Given the description of an element on the screen output the (x, y) to click on. 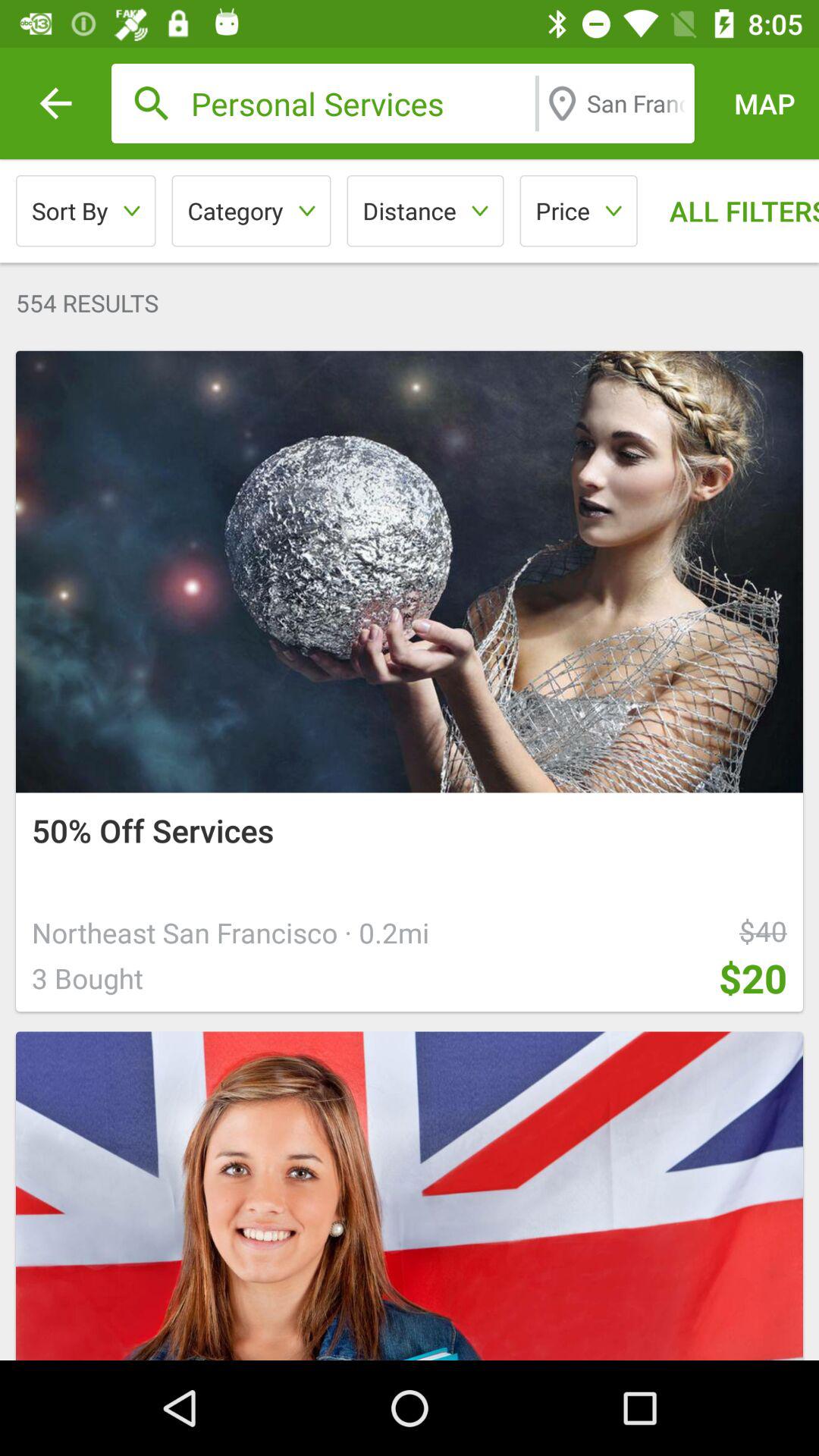
choose icon below personal services item (578, 210)
